Given the description of an element on the screen output the (x, y) to click on. 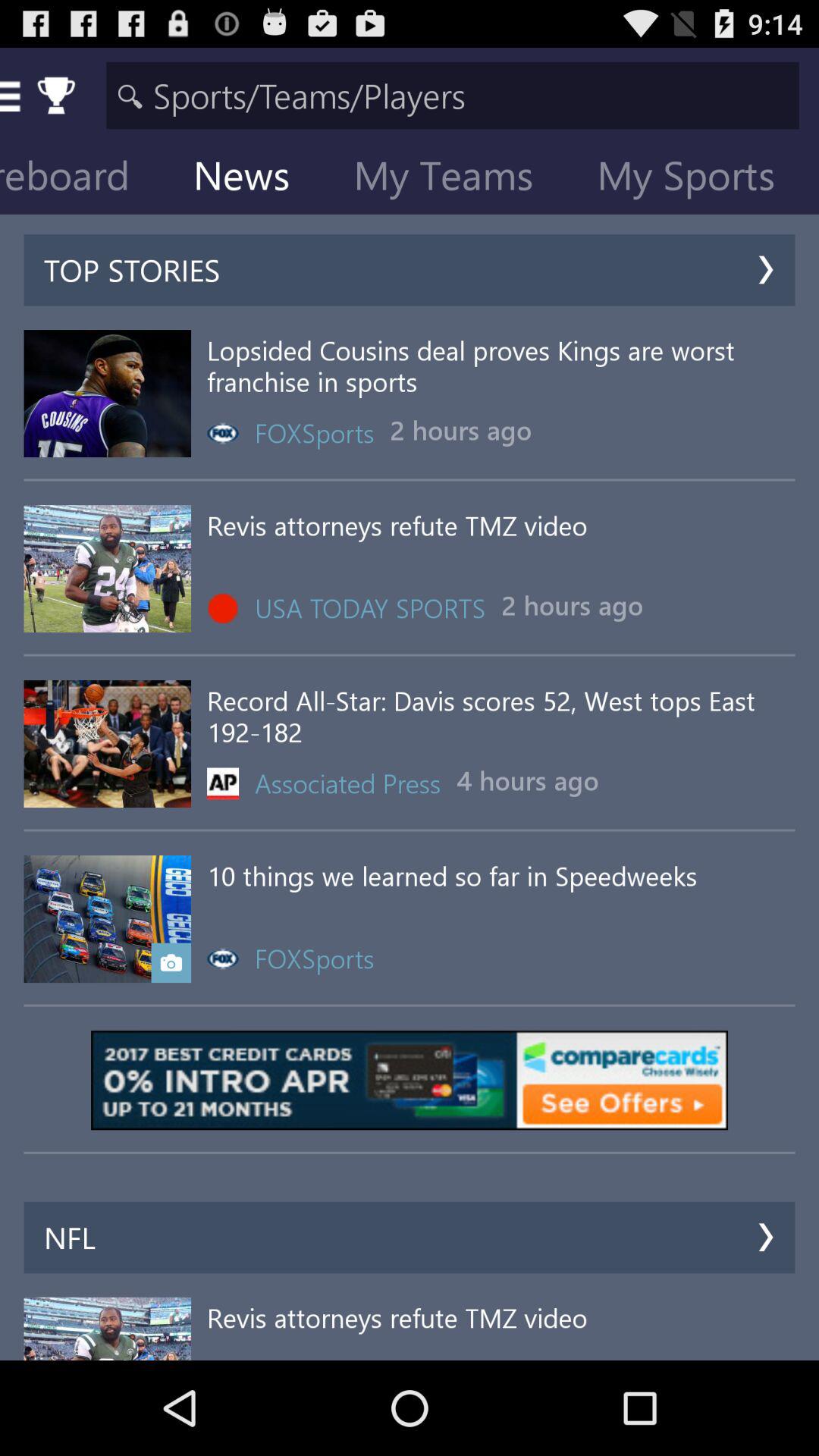
open item to the right of my teams (698, 178)
